Given the description of an element on the screen output the (x, y) to click on. 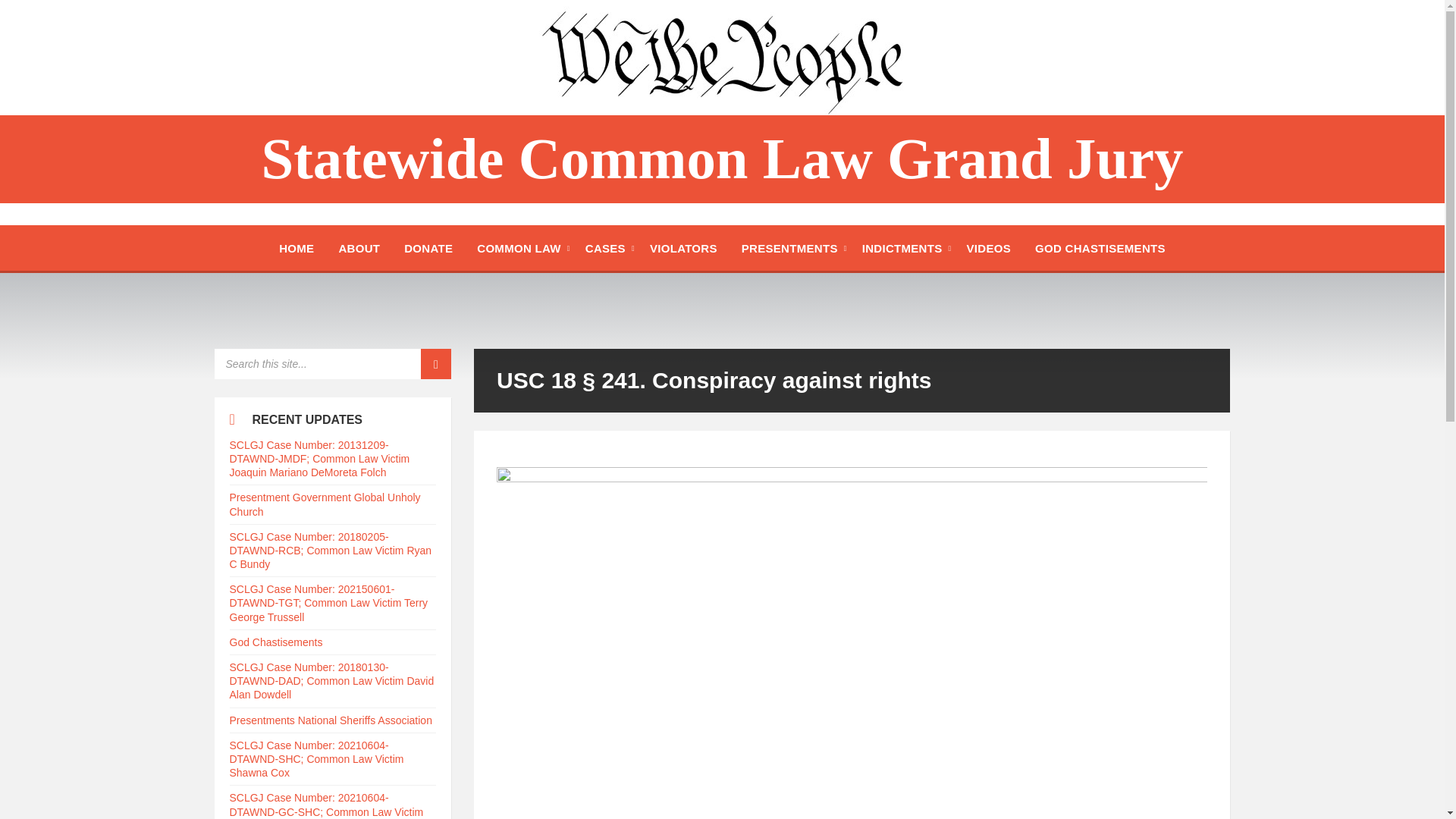
COMMON LAW (518, 247)
HOME (296, 247)
ABOUT (358, 247)
DONATE (427, 247)
CASES (605, 247)
Submit search (435, 363)
